Given the description of an element on the screen output the (x, y) to click on. 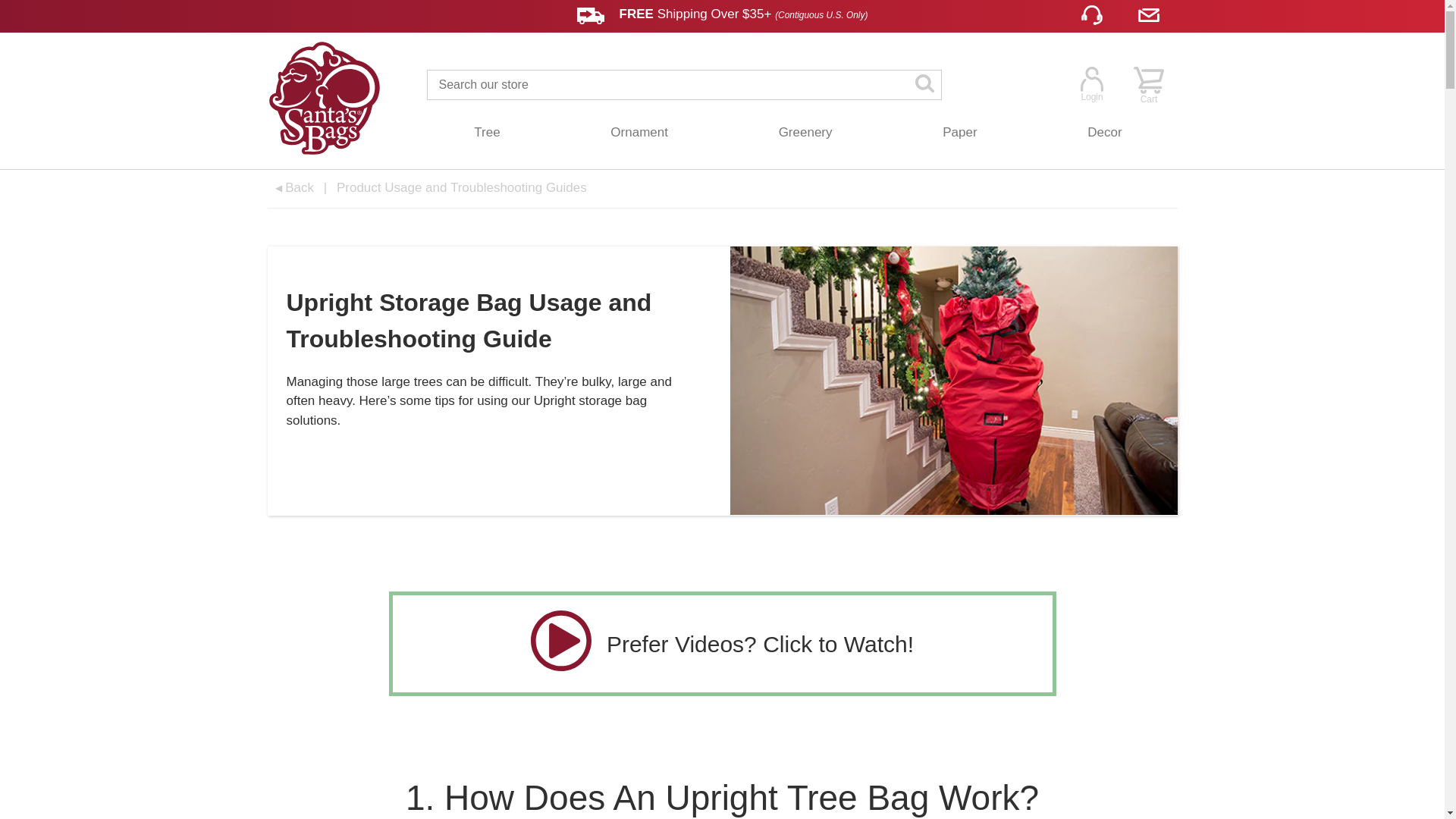
Greenery (805, 132)
Product Usage and Troubleshooting Guides (461, 187)
santas-bags-logo (323, 101)
Santas Bags (323, 101)
Tree (486, 132)
Ornament (639, 132)
Prefer Videos? Click to Watch! (721, 643)
Paper (959, 132)
Decor (1104, 132)
Login (1090, 83)
